Given the description of an element on the screen output the (x, y) to click on. 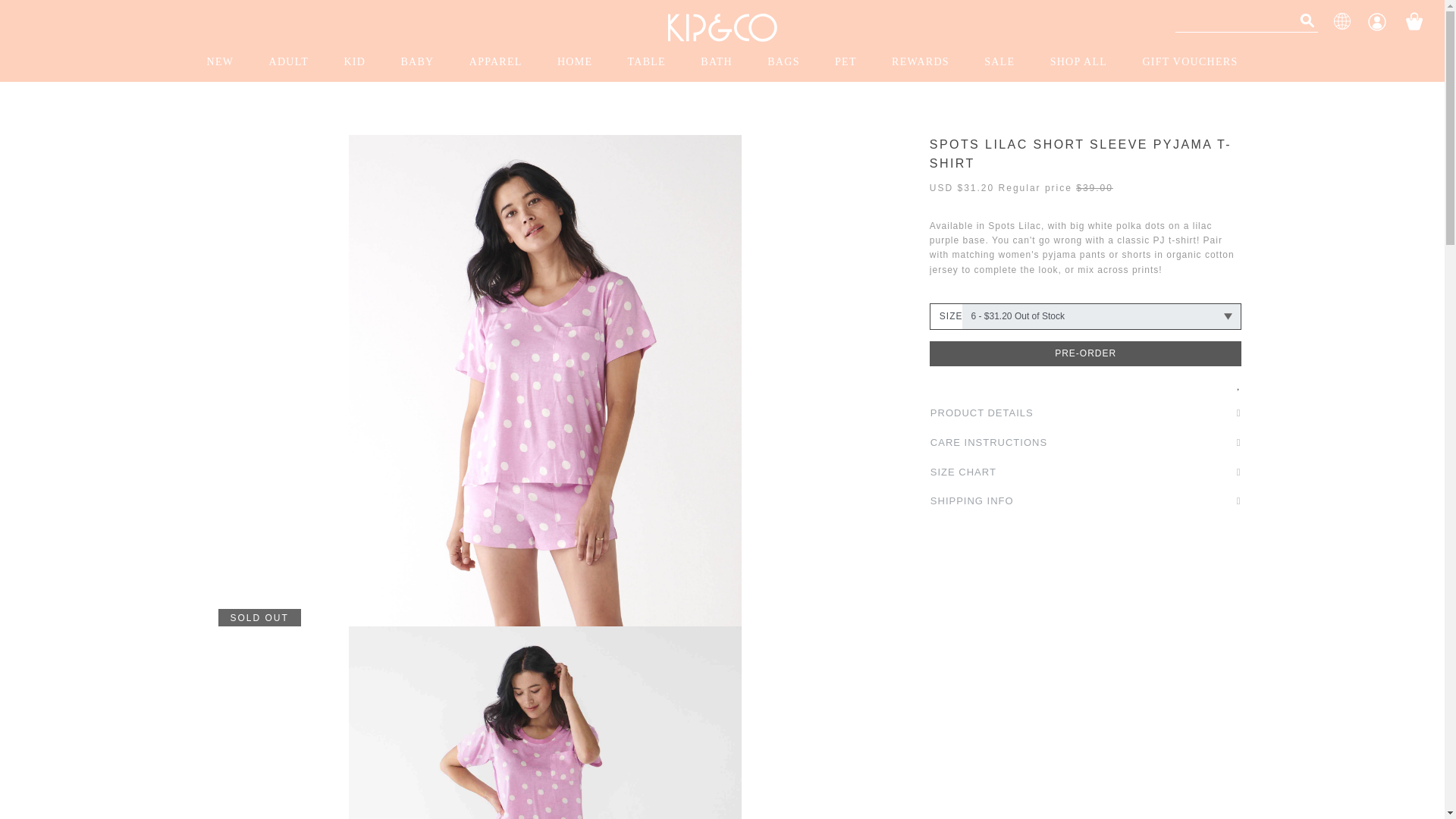
HOME (574, 61)
APPAREL (495, 61)
REWARDS (920, 61)
BAGS (782, 61)
ADULT (288, 61)
TABLE (646, 61)
BATH (716, 61)
BABY (417, 61)
